Given the description of an element on the screen output the (x, y) to click on. 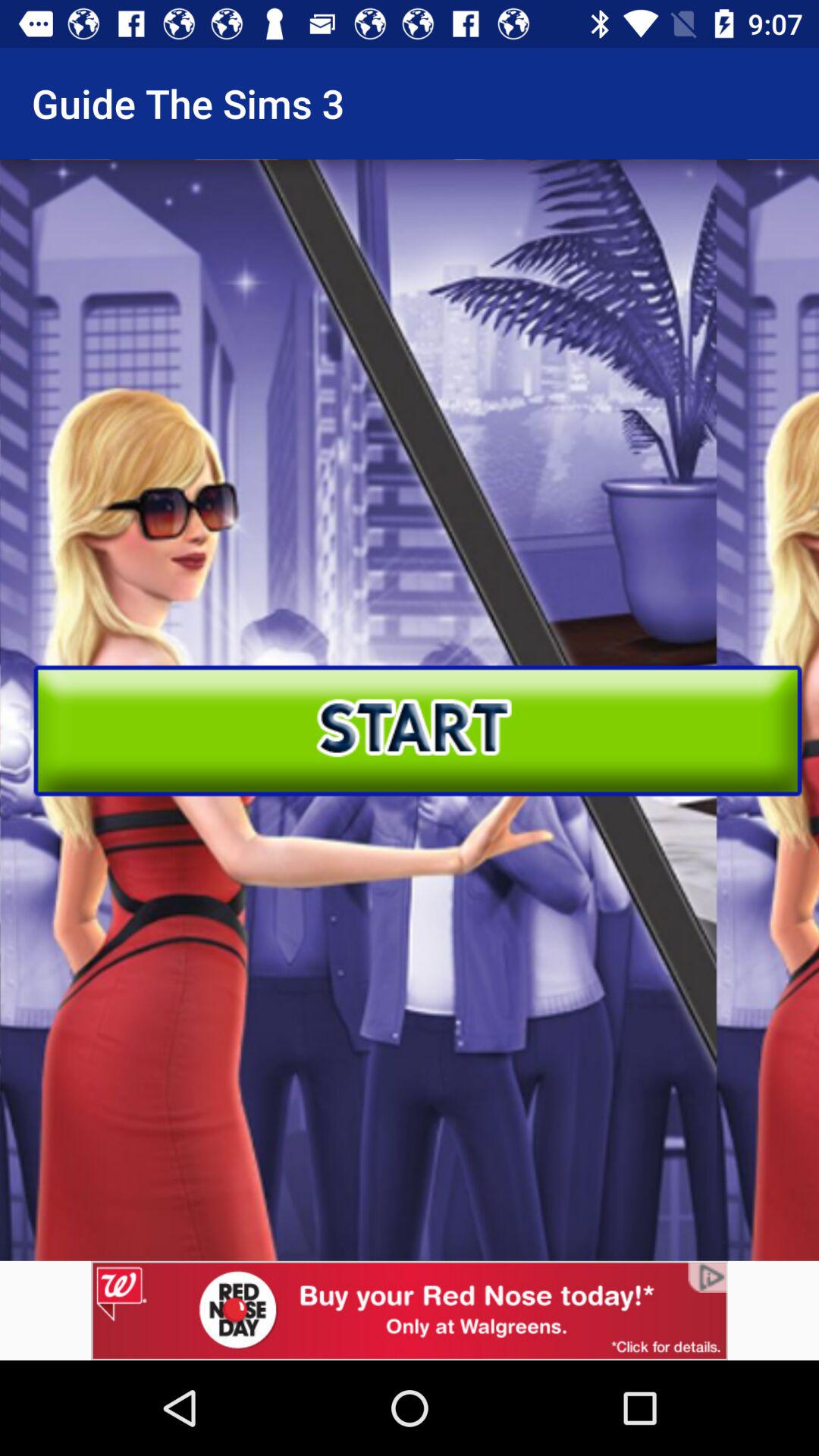
advertising pop up banner (409, 1310)
